Given the description of an element on the screen output the (x, y) to click on. 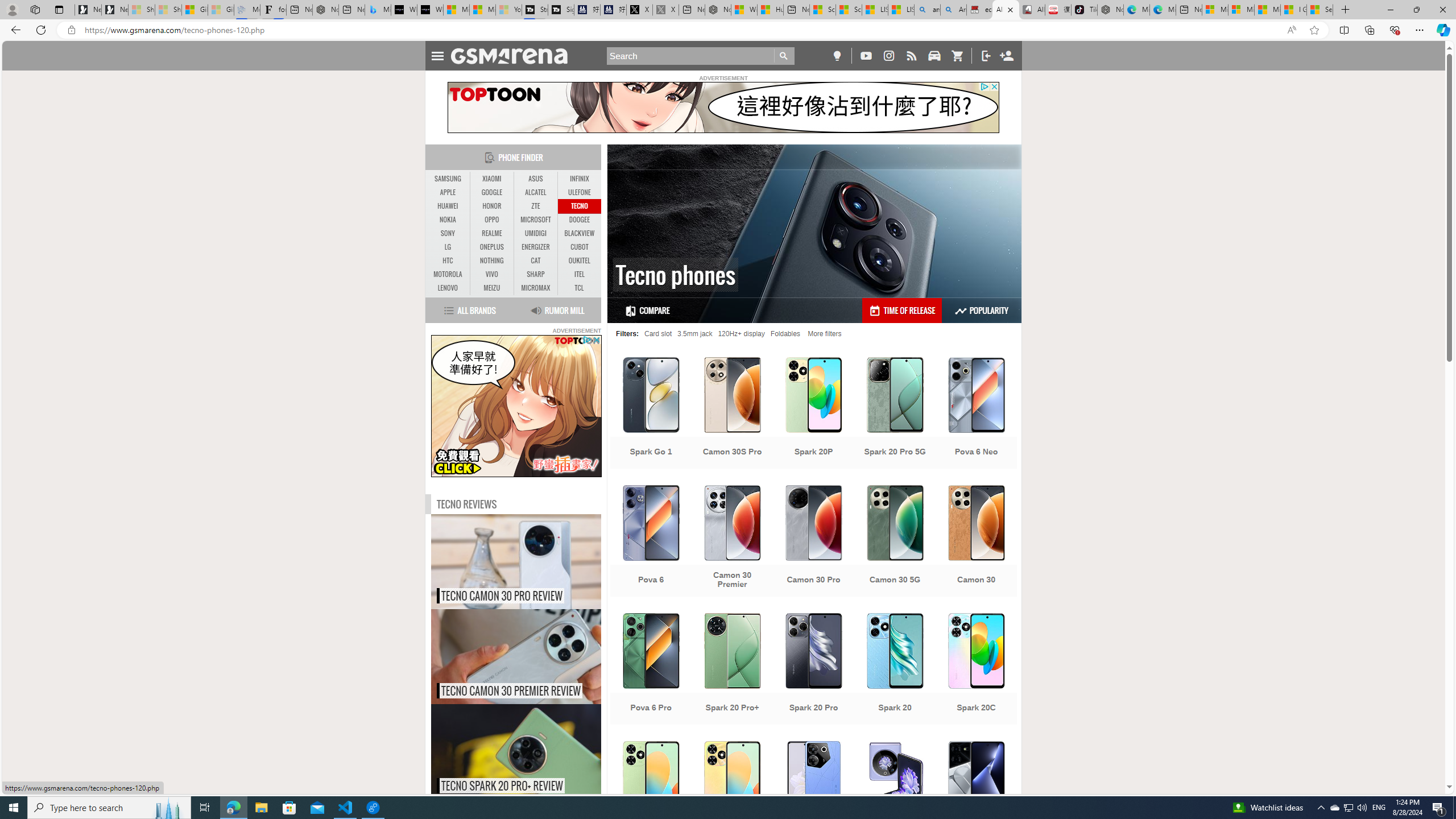
SHARP (535, 273)
MICROSOFT (535, 219)
OPPO (491, 219)
TECNO (579, 206)
New Tab (1346, 9)
Search (700, 55)
Pova 6 (650, 542)
INFINIX (579, 178)
Microsoft Start Sports (456, 9)
GOOGLE (491, 192)
NOKIA (448, 219)
